Given the description of an element on the screen output the (x, y) to click on. 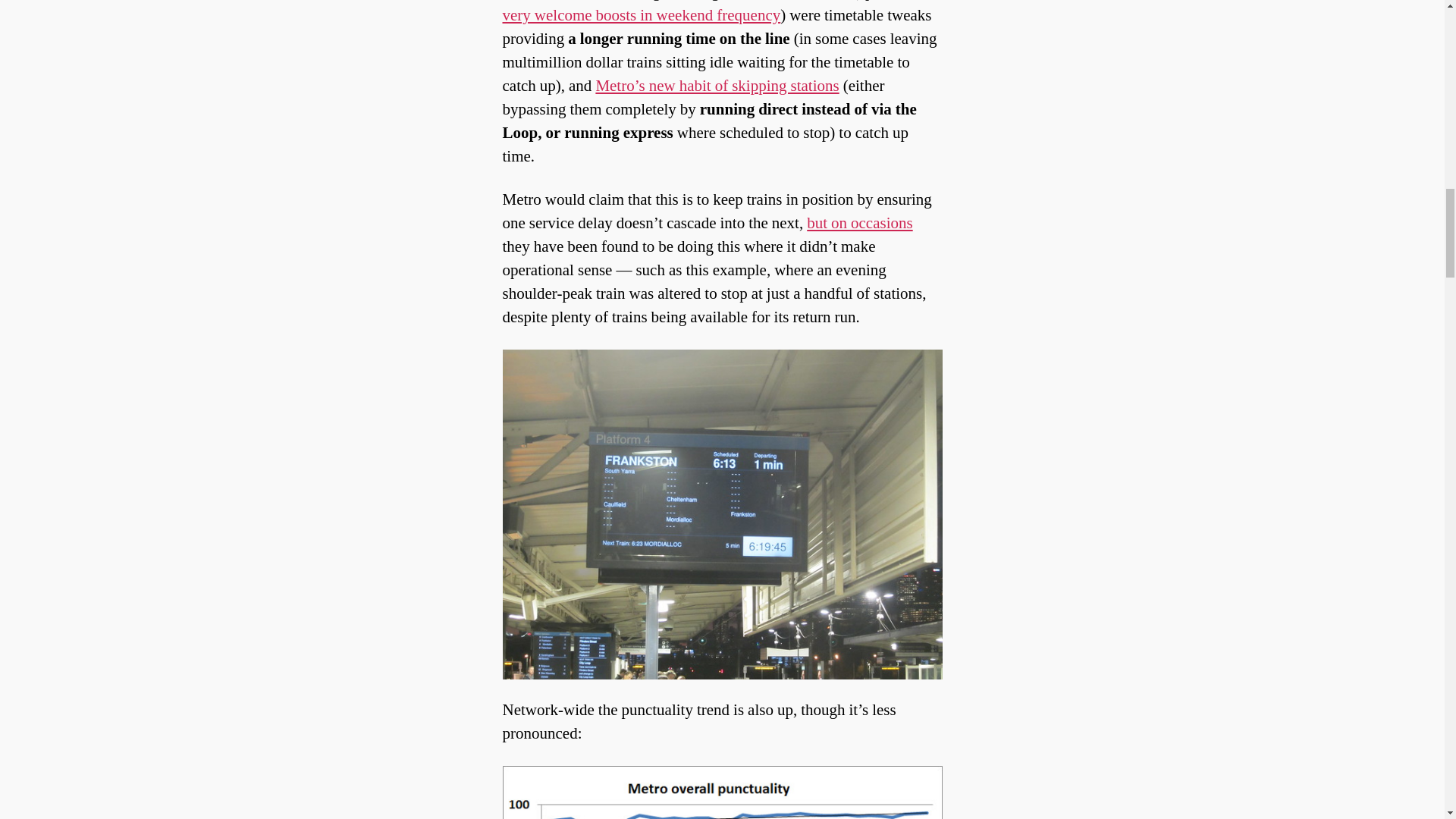
metro-punc by Daniel Bowen, on Flickr (722, 792)
